Given the description of an element on the screen output the (x, y) to click on. 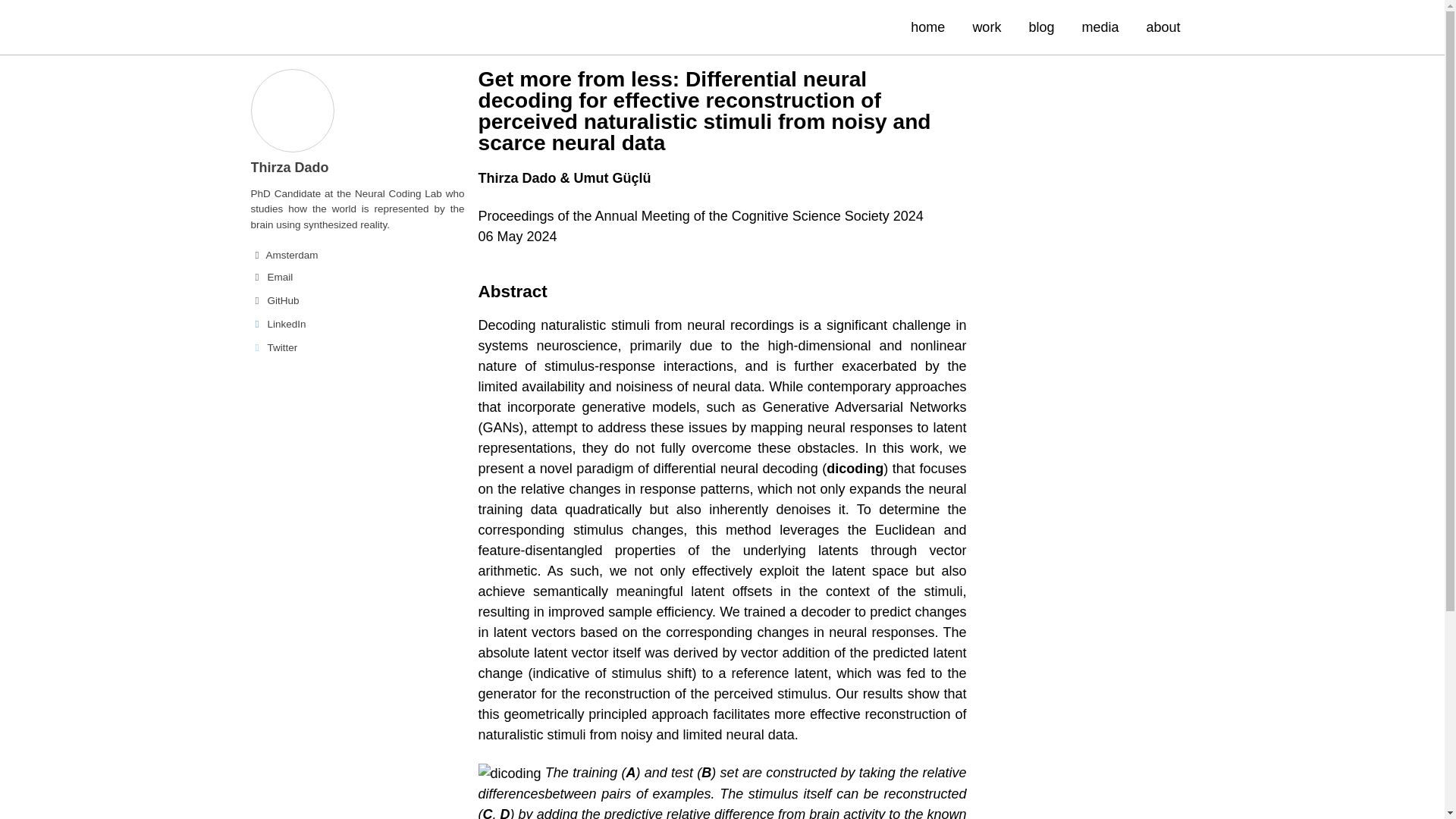
Email (357, 277)
about (1162, 26)
blog (1040, 26)
LinkedIn (357, 324)
media (1099, 26)
Thirza Dado (289, 167)
Twitter (357, 348)
GitHub (357, 300)
